Given the description of an element on the screen output the (x, y) to click on. 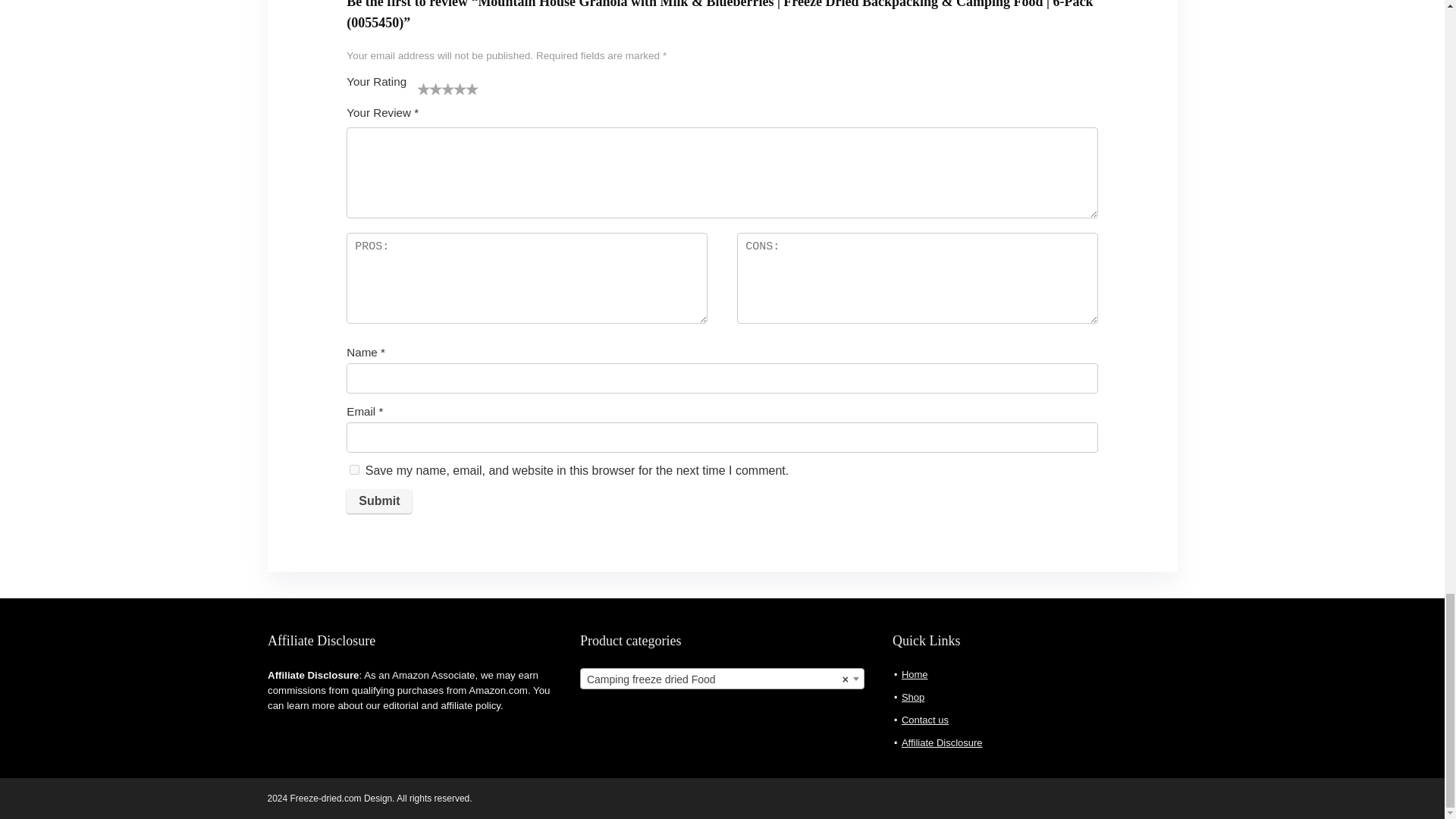
Submit (379, 500)
Camping freeze dried Food (721, 679)
yes (354, 470)
